Given the description of an element on the screen output the (x, y) to click on. 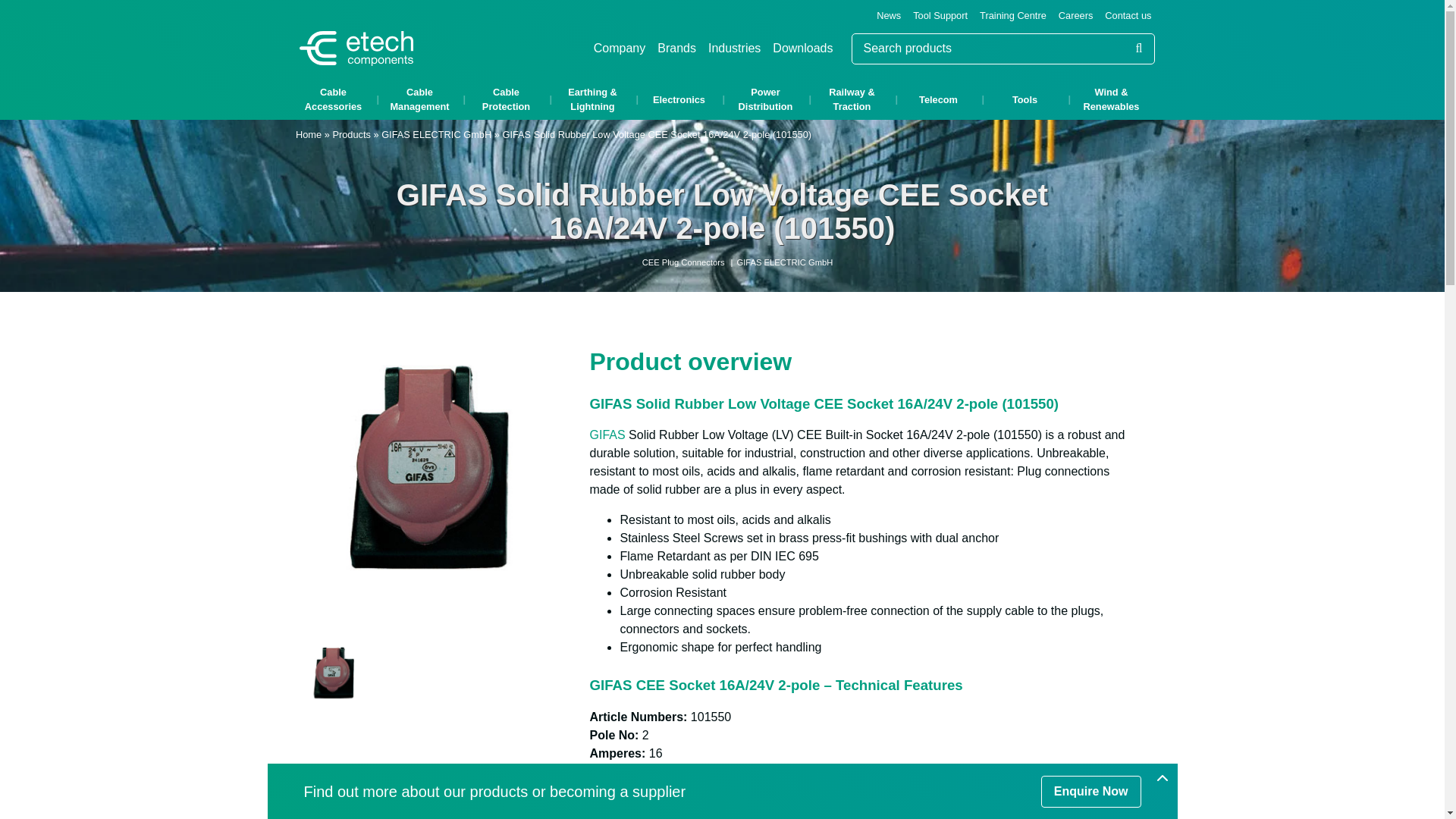
News (888, 15)
Contact us (1128, 15)
Downloads (802, 47)
Company (619, 47)
Careers (1075, 15)
Brands (676, 47)
Tool Support (940, 15)
CEE Plug Connectors (683, 261)
Cable Accessories (332, 98)
Industries (733, 47)
